Given the description of an element on the screen output the (x, y) to click on. 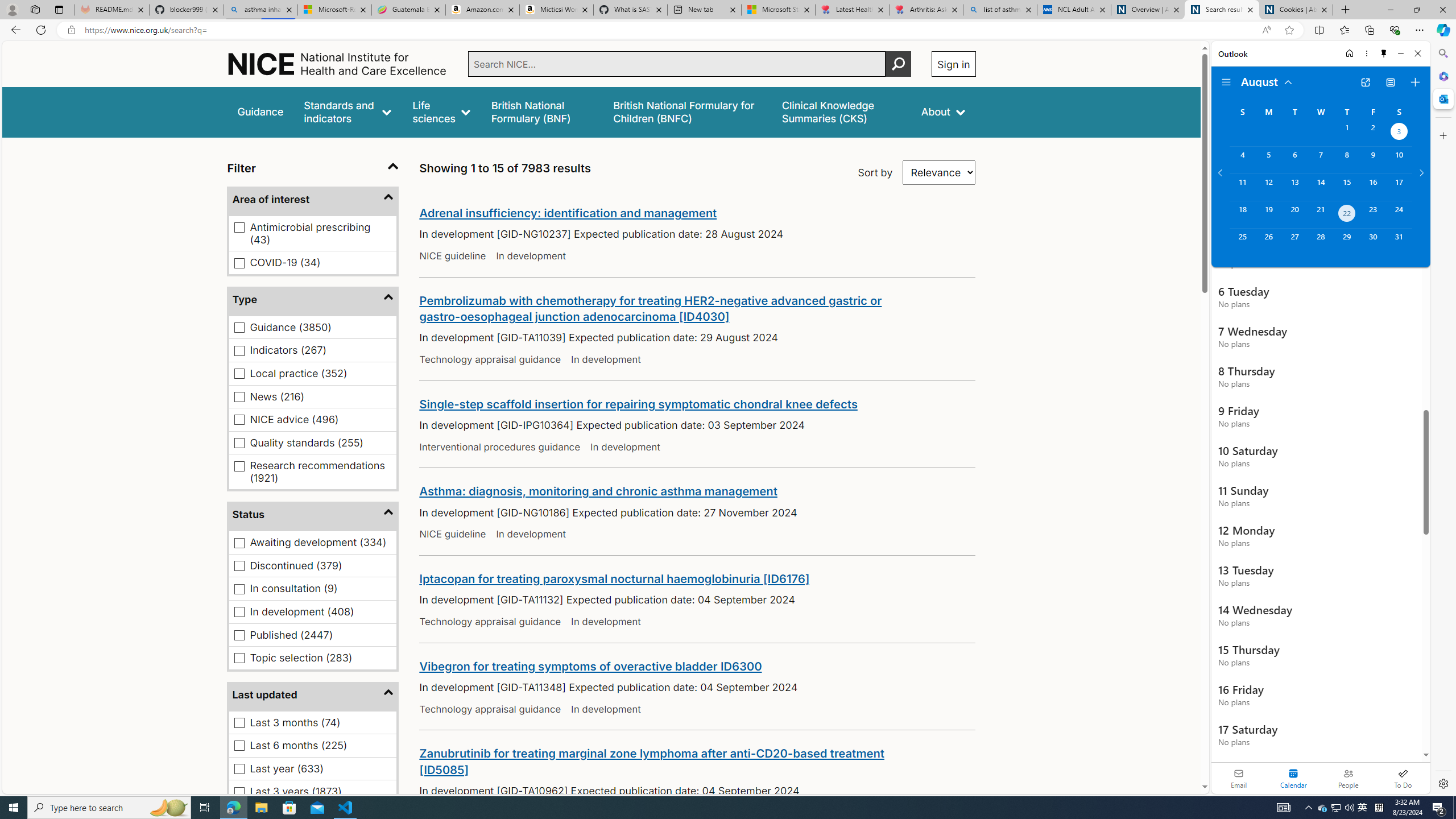
Sunday, August 11, 2024.  (1242, 186)
Saturday, August 3, 2024. Date selected.  (1399, 132)
Friday, August 2, 2024.  (1372, 132)
Thursday, August 15, 2024.  (1346, 186)
View Switcher. Current view is Agenda view (1390, 82)
Status (312, 515)
Thursday, August 8, 2024.  (1346, 159)
